Given the description of an element on the screen output the (x, y) to click on. 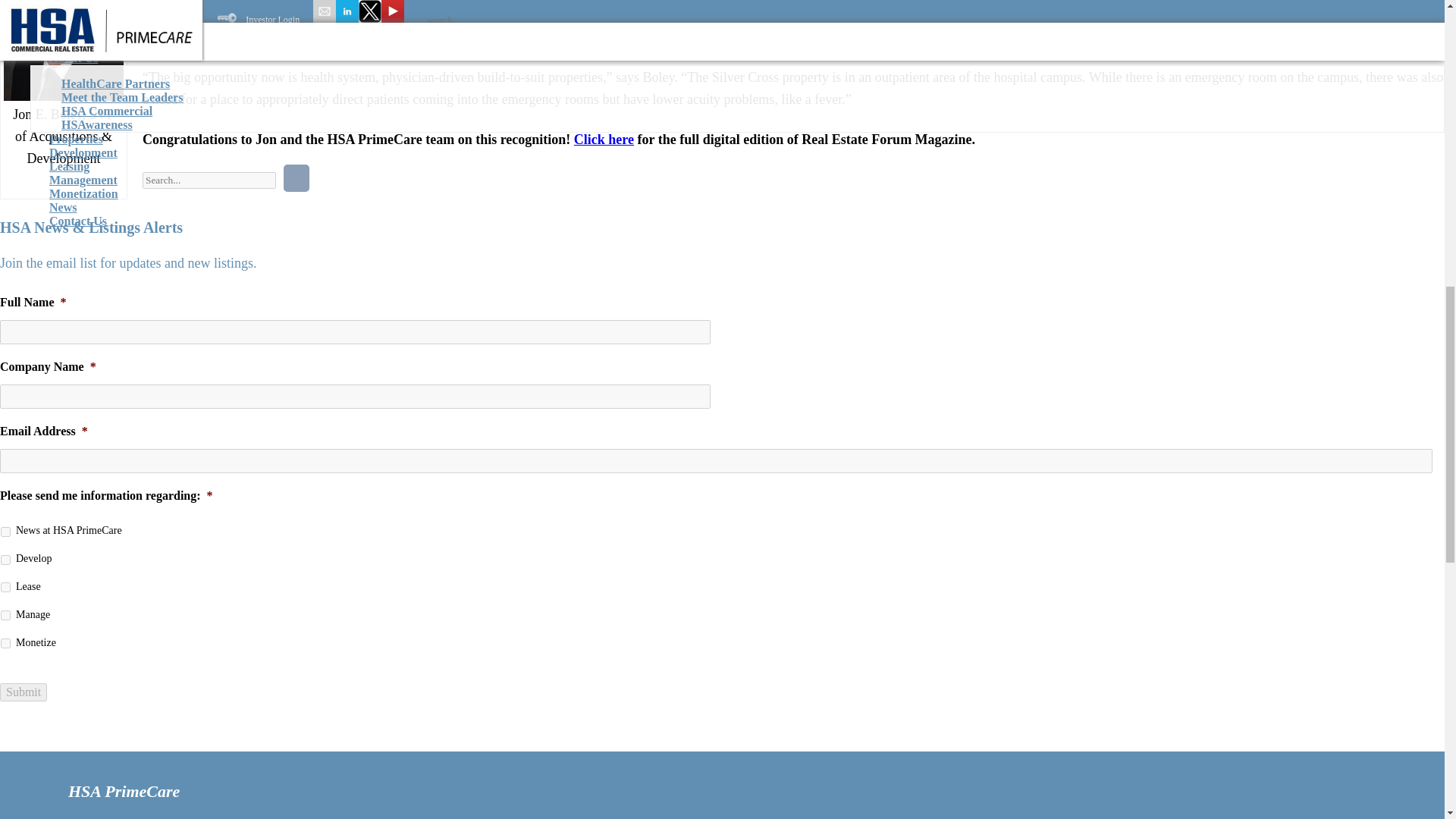
Submit (23, 692)
News at HSA PrimeCare (5, 532)
Lease (5, 587)
Manage (5, 614)
Submit (23, 692)
Click here (603, 139)
Develop (5, 560)
Monetize (5, 643)
